Given the description of an element on the screen output the (x, y) to click on. 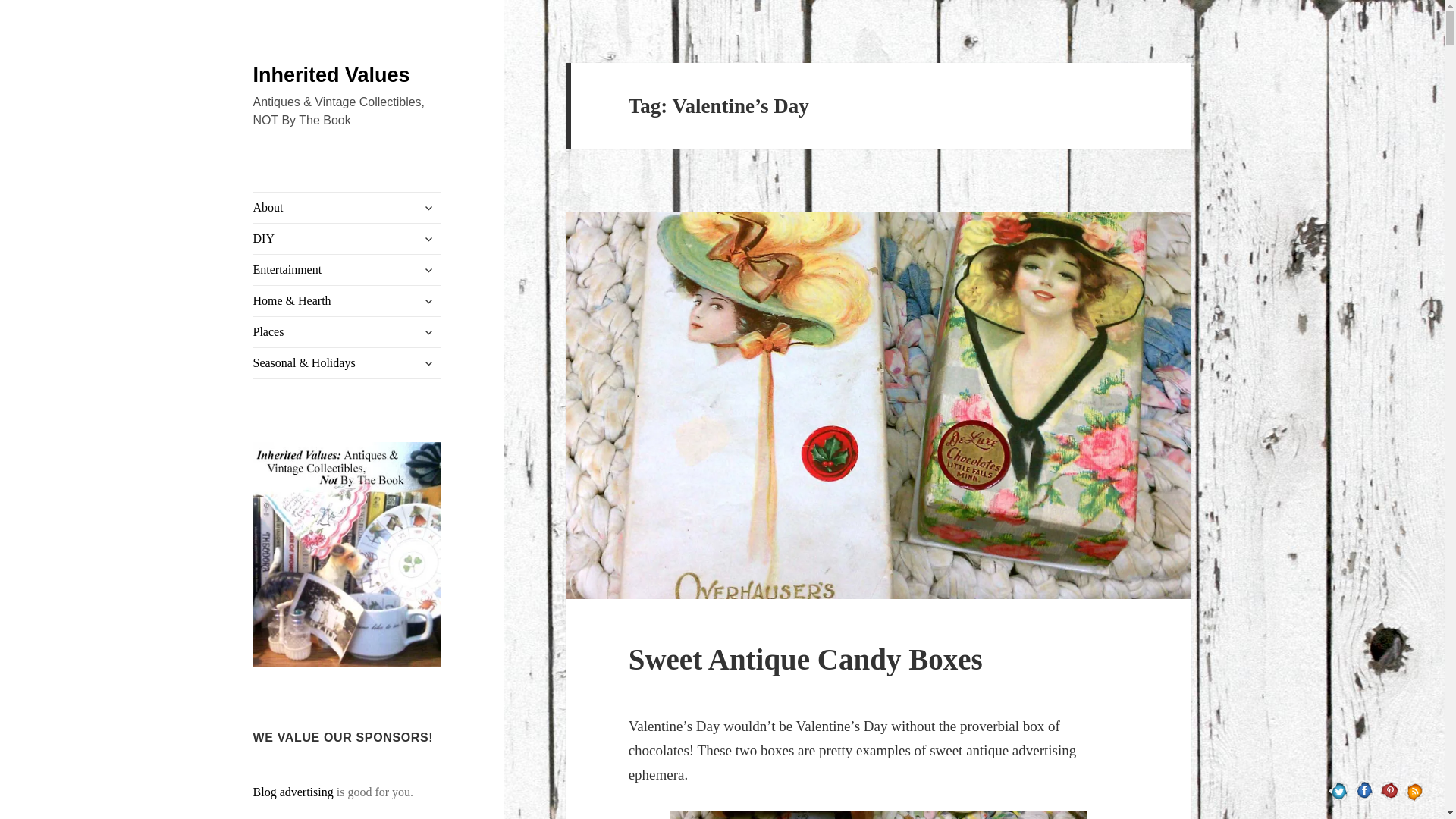
About (347, 207)
expand child menu (428, 238)
Inherited Values (331, 74)
expand child menu (428, 269)
expand child menu (428, 207)
Entertainment (347, 269)
DIY (347, 238)
expand child menu (428, 300)
